Given the description of an element on the screen output the (x, y) to click on. 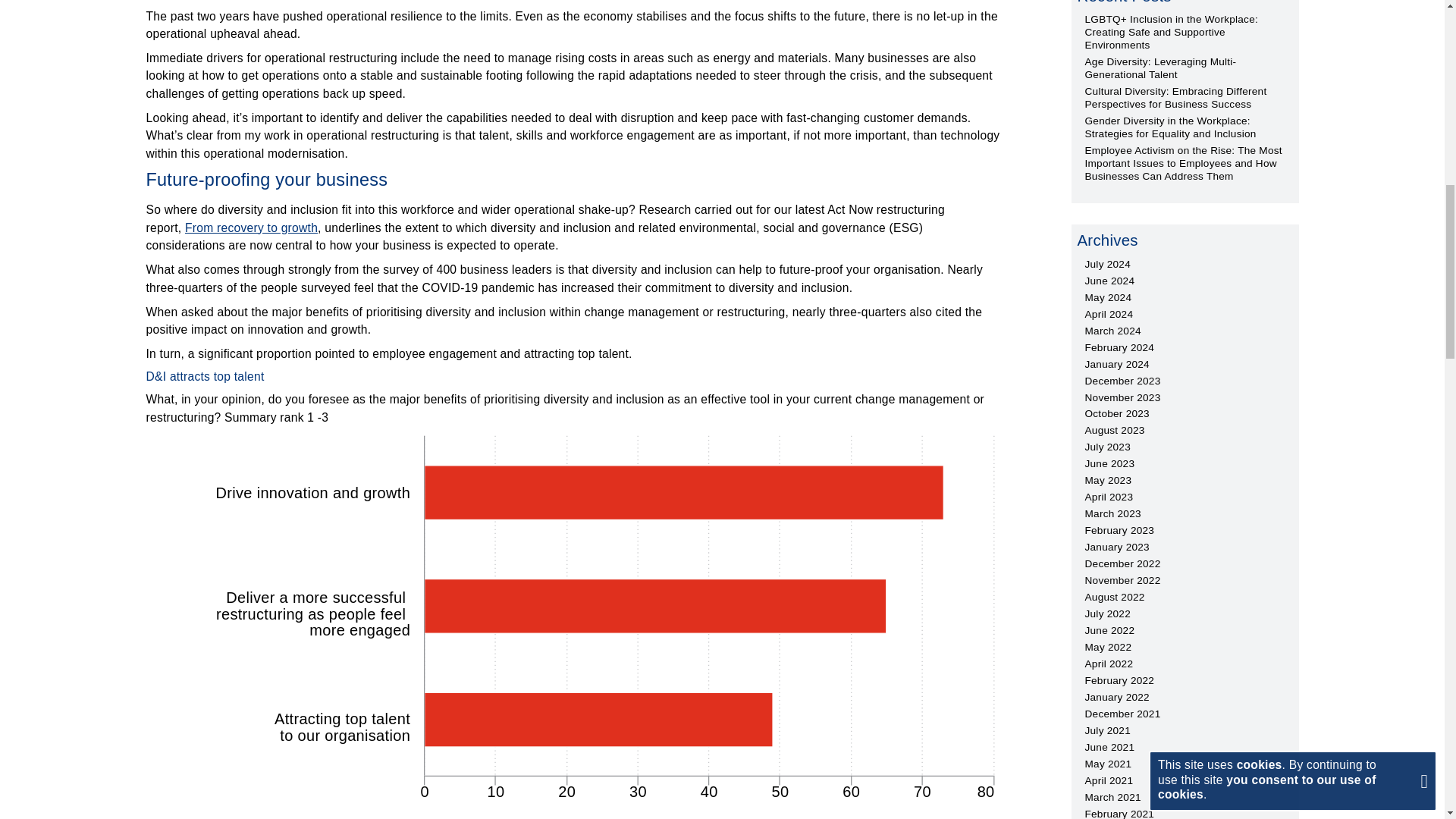
From recovery to growth (250, 227)
